Given the description of an element on the screen output the (x, y) to click on. 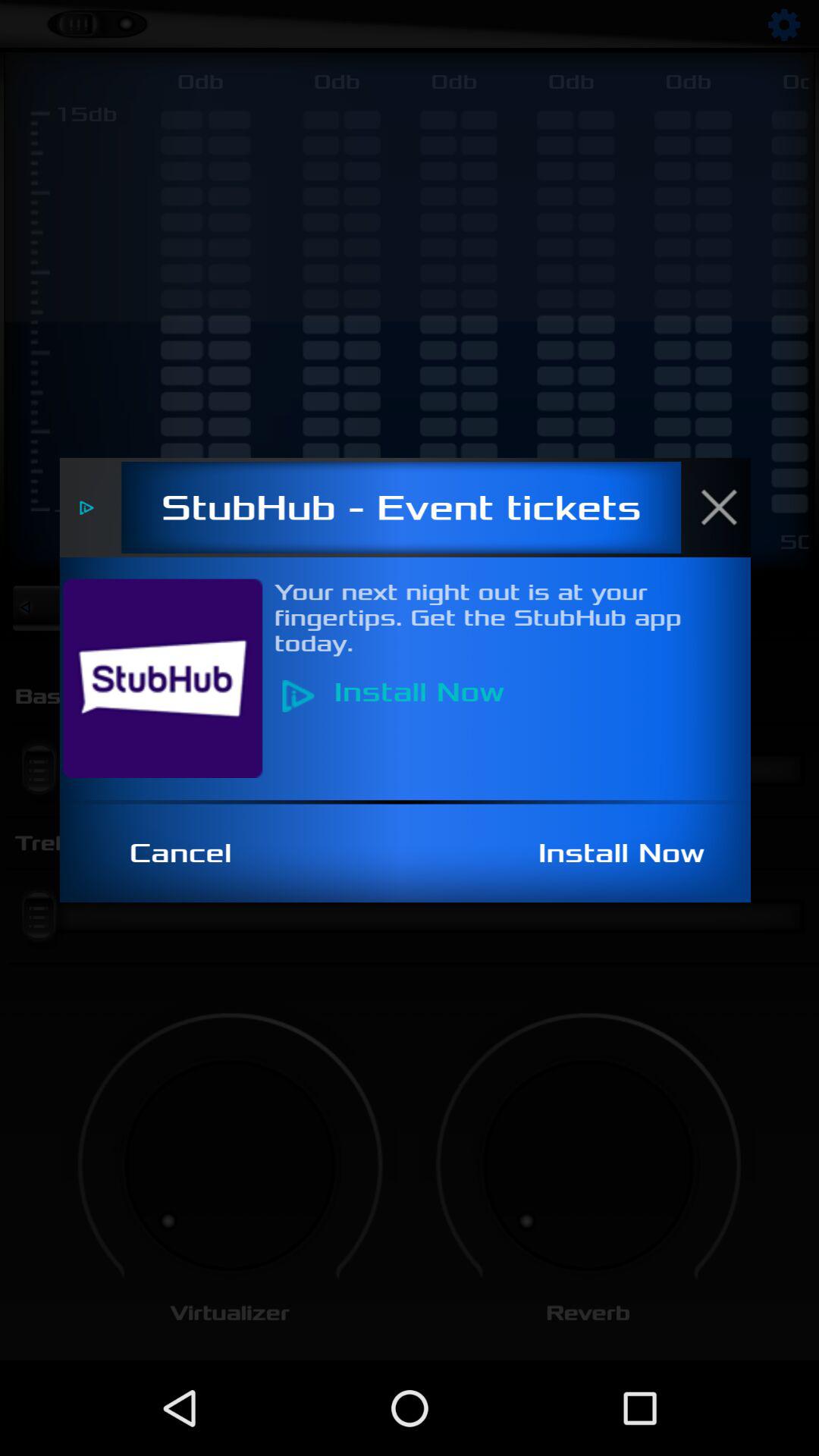
press the cancel (188, 853)
